Given the description of an element on the screen output the (x, y) to click on. 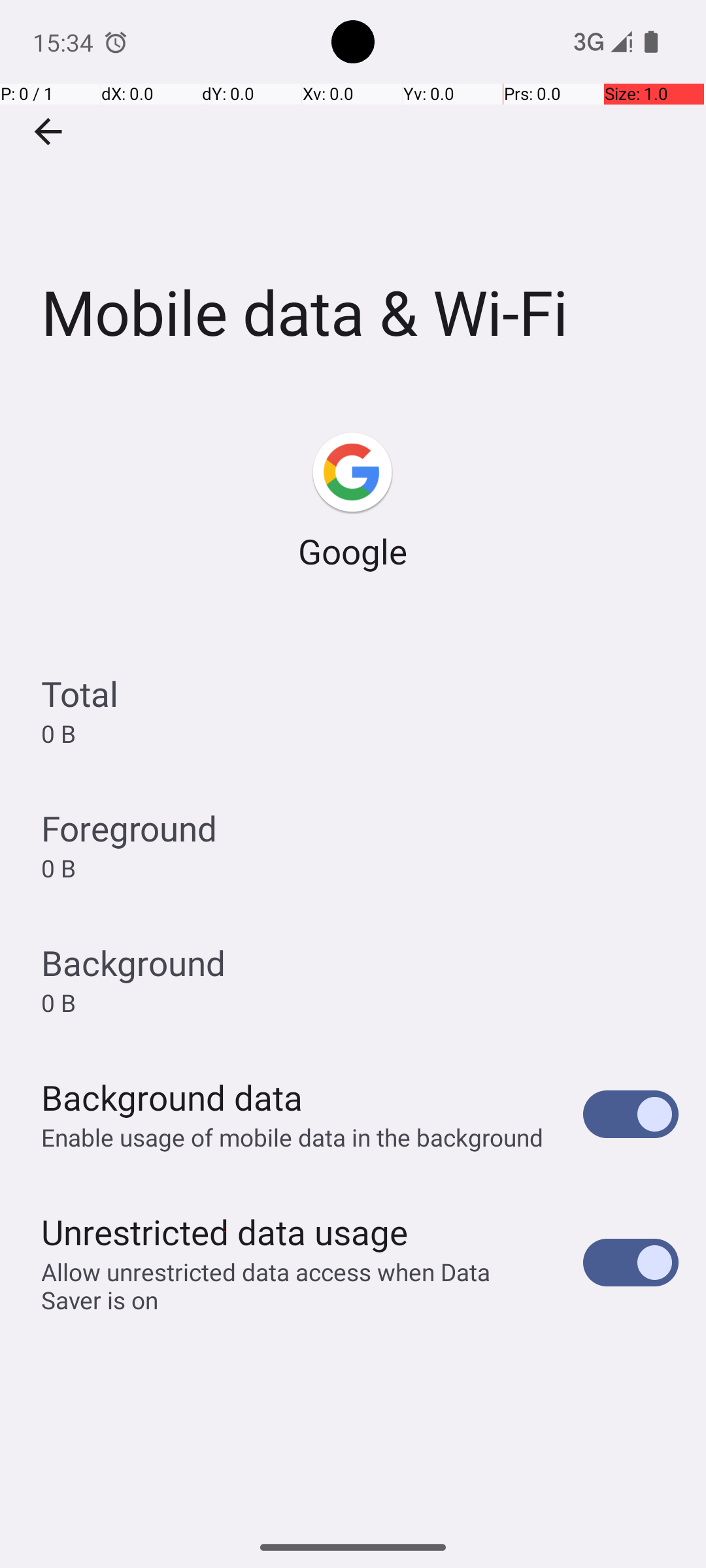
Foreground Element type: android.widget.TextView (129, 827)
Background Element type: android.widget.TextView (133, 962)
Background data Element type: android.widget.TextView (171, 1097)
Enable usage of mobile data in the background Element type: android.widget.TextView (292, 1136)
Unrestricted data usage Element type: android.widget.TextView (224, 1231)
Allow unrestricted data access when Data Saver is on Element type: android.widget.TextView (298, 1285)
